Given the description of an element on the screen output the (x, y) to click on. 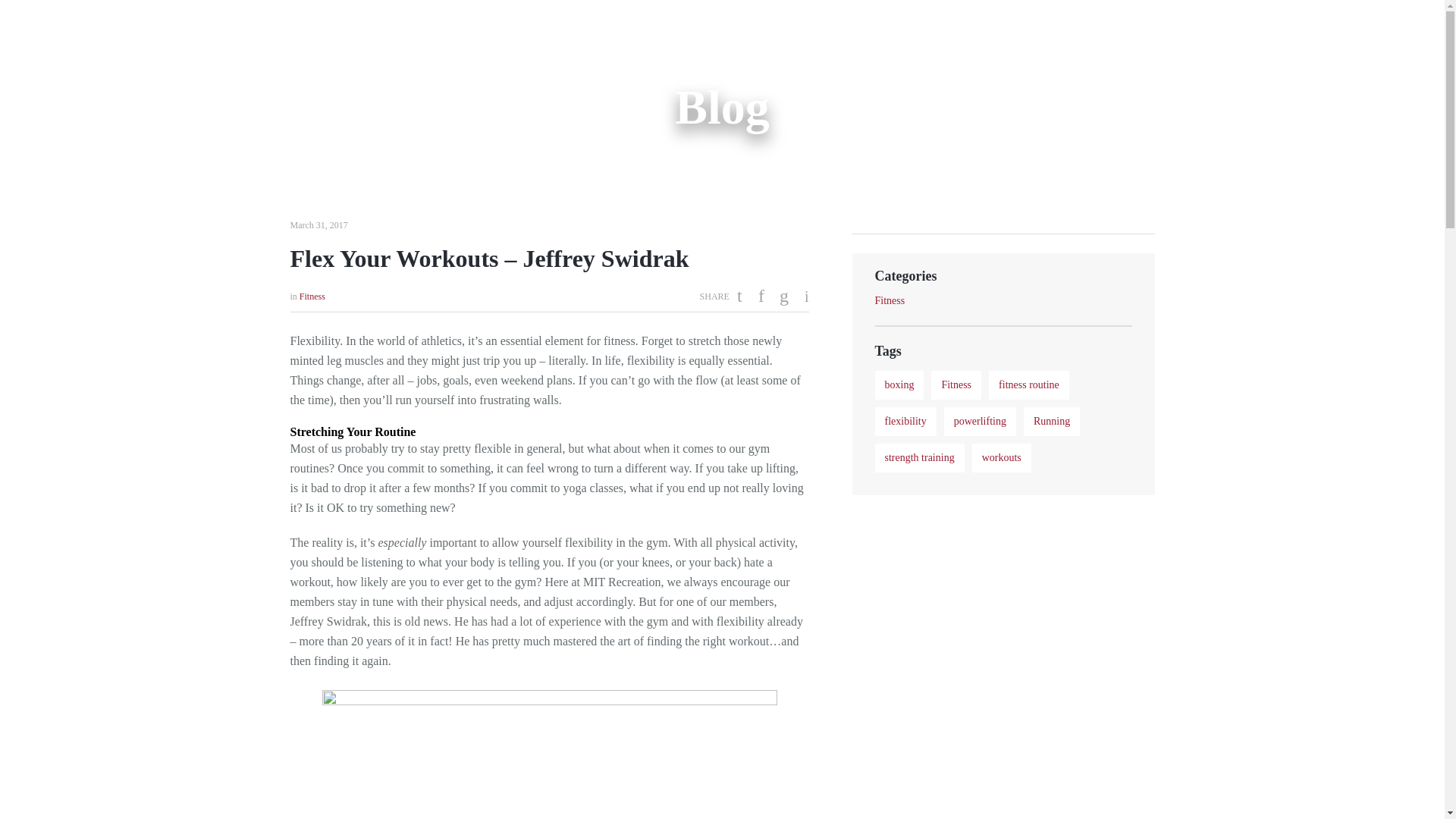
WELLNESS (713, 29)
JOIN (589, 29)
LOGIN (1051, 29)
LEARN (814, 29)
CONTACT (1108, 29)
VISIT (768, 29)
WORKOUT (644, 29)
